Given the description of an element on the screen output the (x, y) to click on. 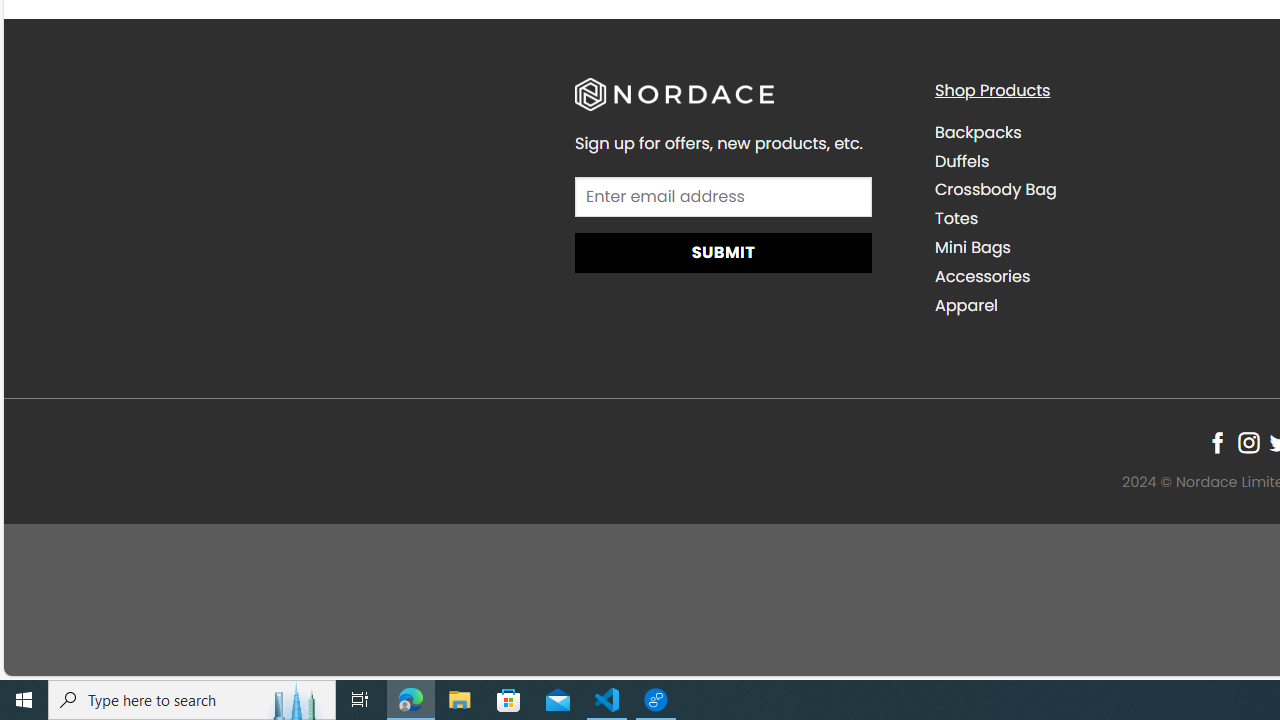
Duffels (961, 160)
Crossbody Bag (1099, 190)
Mini Bags (1099, 247)
Follow on Facebook (1217, 442)
